Given the description of an element on the screen output the (x, y) to click on. 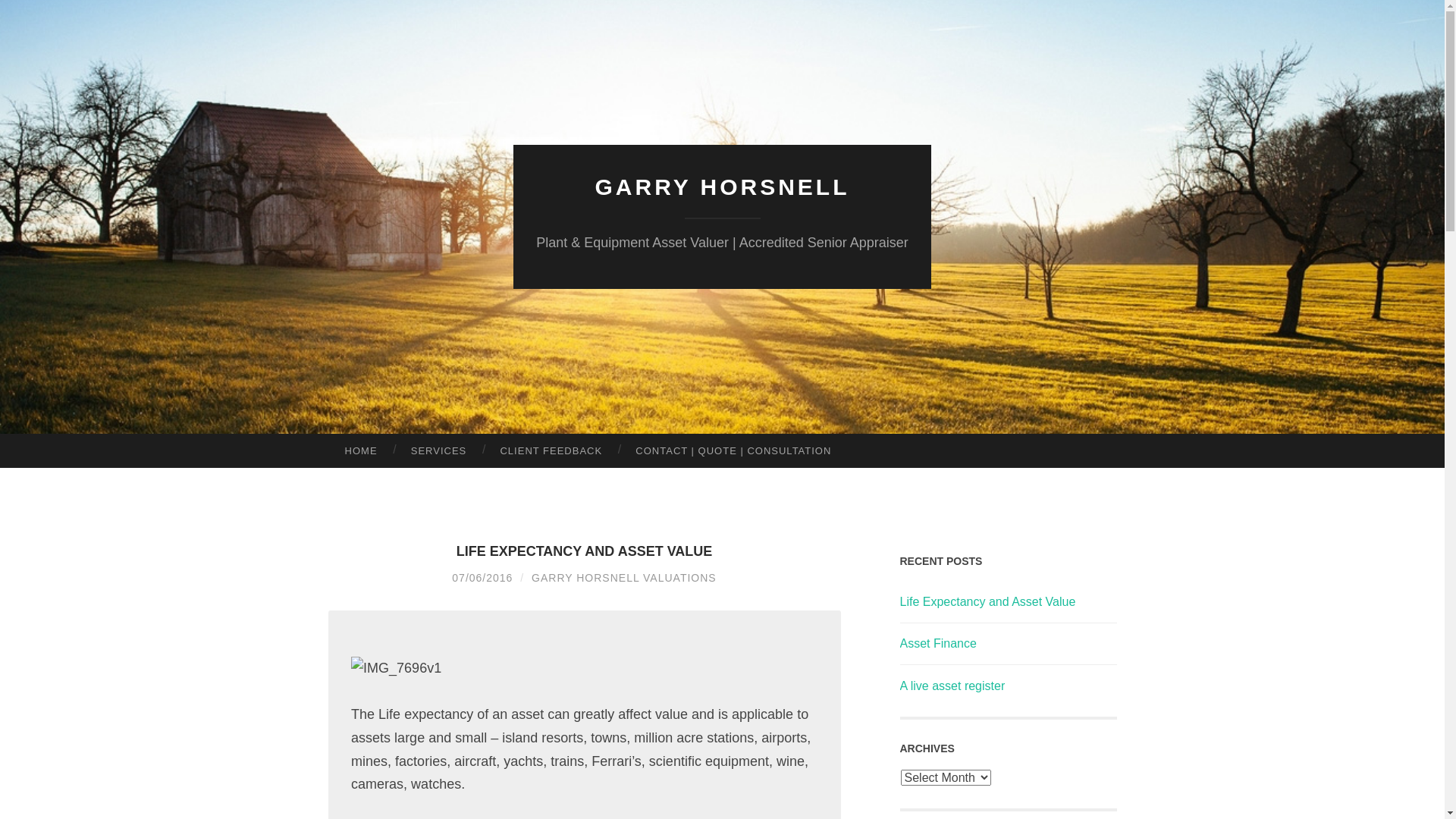
07/06/2016 Element type: text (481, 577)
GARRY HORSNELL Element type: text (721, 186)
SERVICES Element type: text (438, 450)
Life Expectancy and Asset Value Element type: text (987, 601)
A live asset register Element type: text (951, 685)
HOME Element type: text (360, 450)
CONTACT | QUOTE | CONSULTATION Element type: text (732, 450)
CLIENT FEEDBACK Element type: text (550, 450)
GARRY HORSNELL VALUATIONS Element type: text (623, 577)
Asset Finance Element type: text (937, 643)
